Given the description of an element on the screen output the (x, y) to click on. 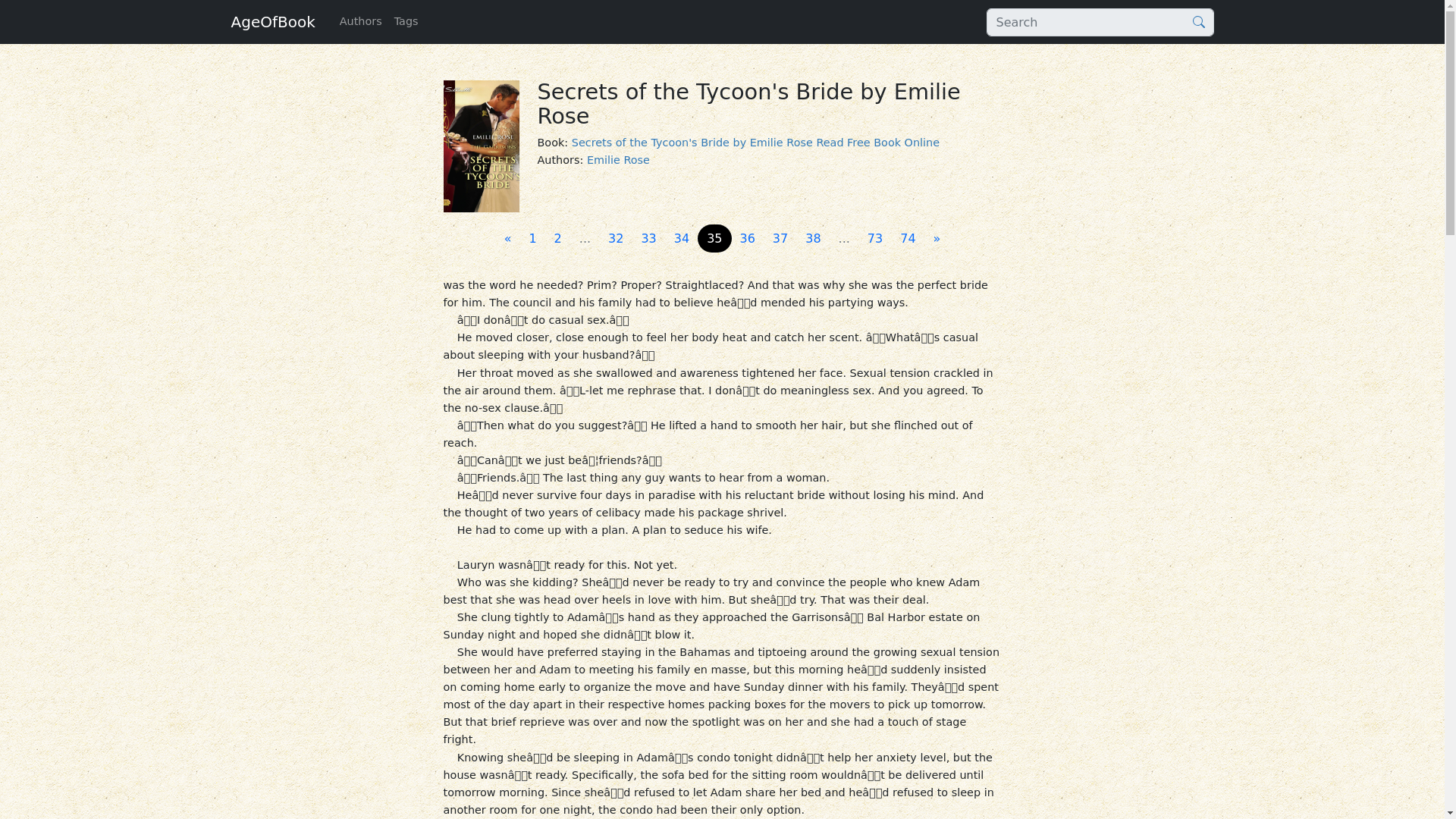
2 (557, 238)
Emilie Rose (617, 159)
AgeOfBook (272, 21)
73 (875, 238)
... (584, 238)
34 (681, 238)
1 (531, 238)
37 (779, 238)
36 (747, 238)
38 (812, 238)
Tags (406, 21)
... (844, 238)
Authors (360, 21)
74 (907, 238)
